Given the description of an element on the screen output the (x, y) to click on. 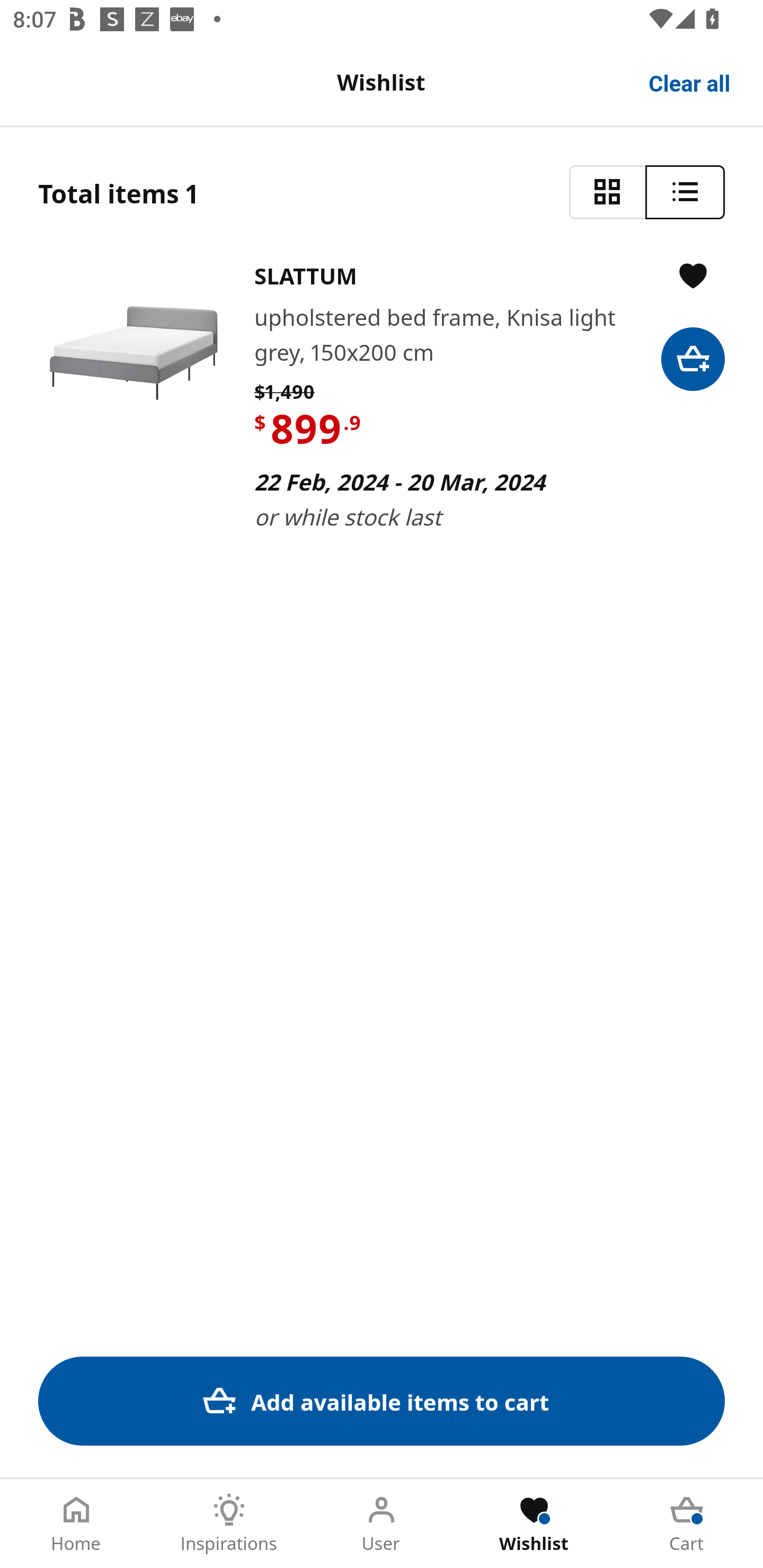
Clear all (689, 81)
Add available items to cart (381, 1400)
Home
Tab 1 of 5 (76, 1522)
Inspirations
Tab 2 of 5 (228, 1522)
User
Tab 3 of 5 (381, 1522)
Wishlist
Tab 4 of 5 (533, 1522)
Cart
Tab 5 of 5 (686, 1522)
